Given the description of an element on the screen output the (x, y) to click on. 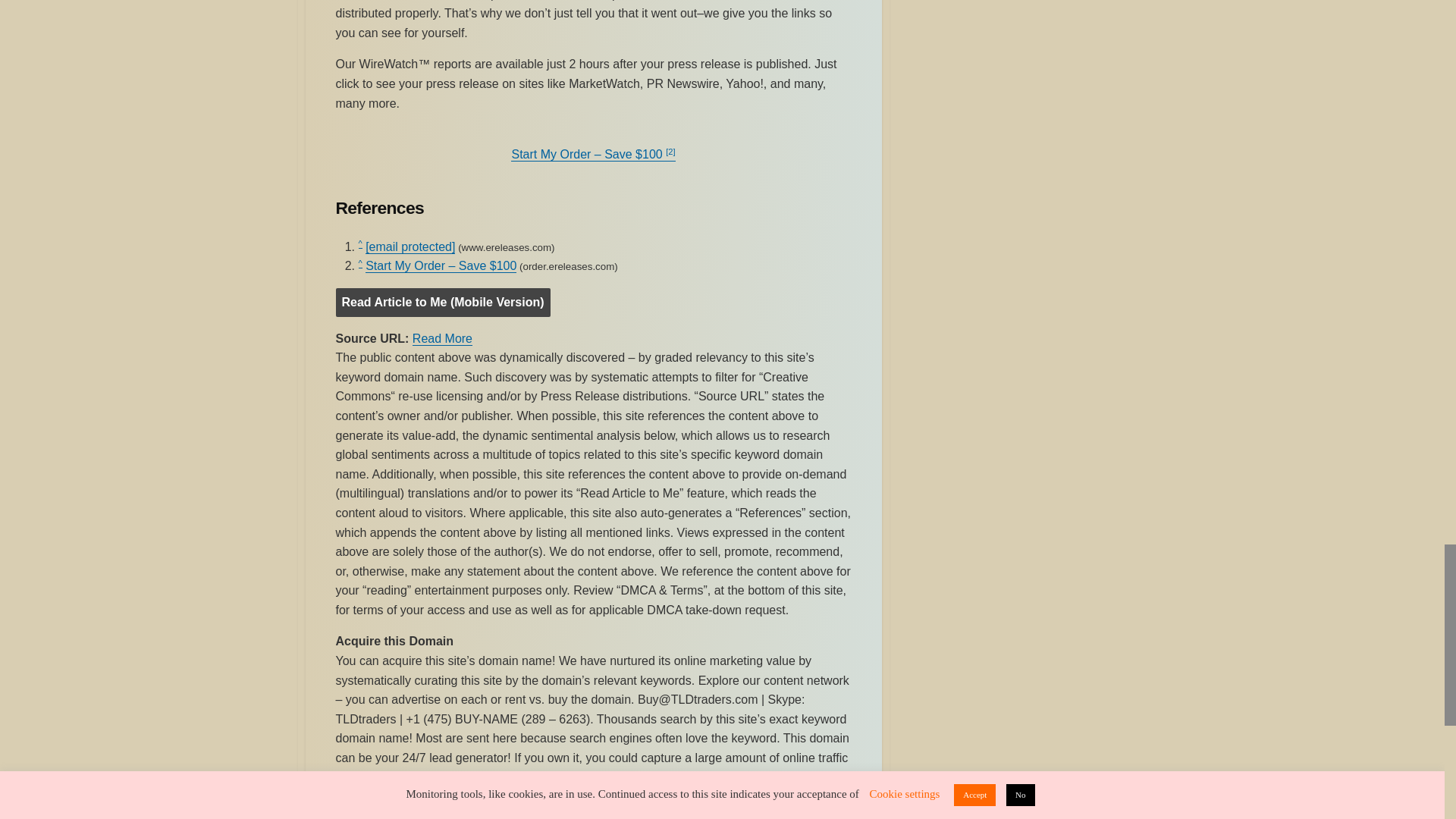
Read More (441, 338)
